Given the description of an element on the screen output the (x, y) to click on. 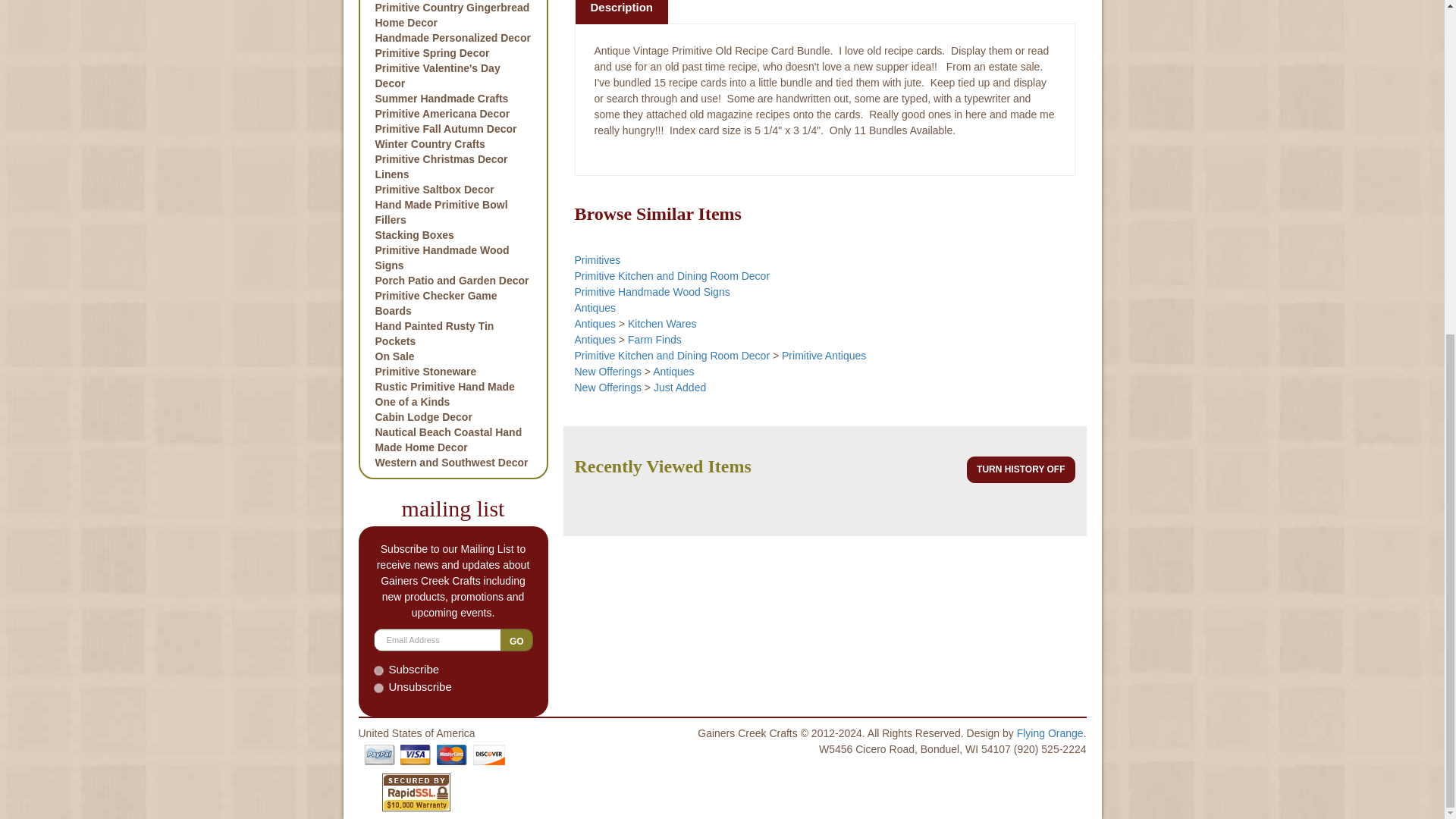
Handmade Personalized Decor (452, 37)
Primitive Country Gingerbread Home Decor (452, 15)
1 (377, 670)
Primitive Spring Decor (452, 52)
0 (377, 687)
Primitive Valentine's Day Decor (452, 75)
